Given the description of an element on the screen output the (x, y) to click on. 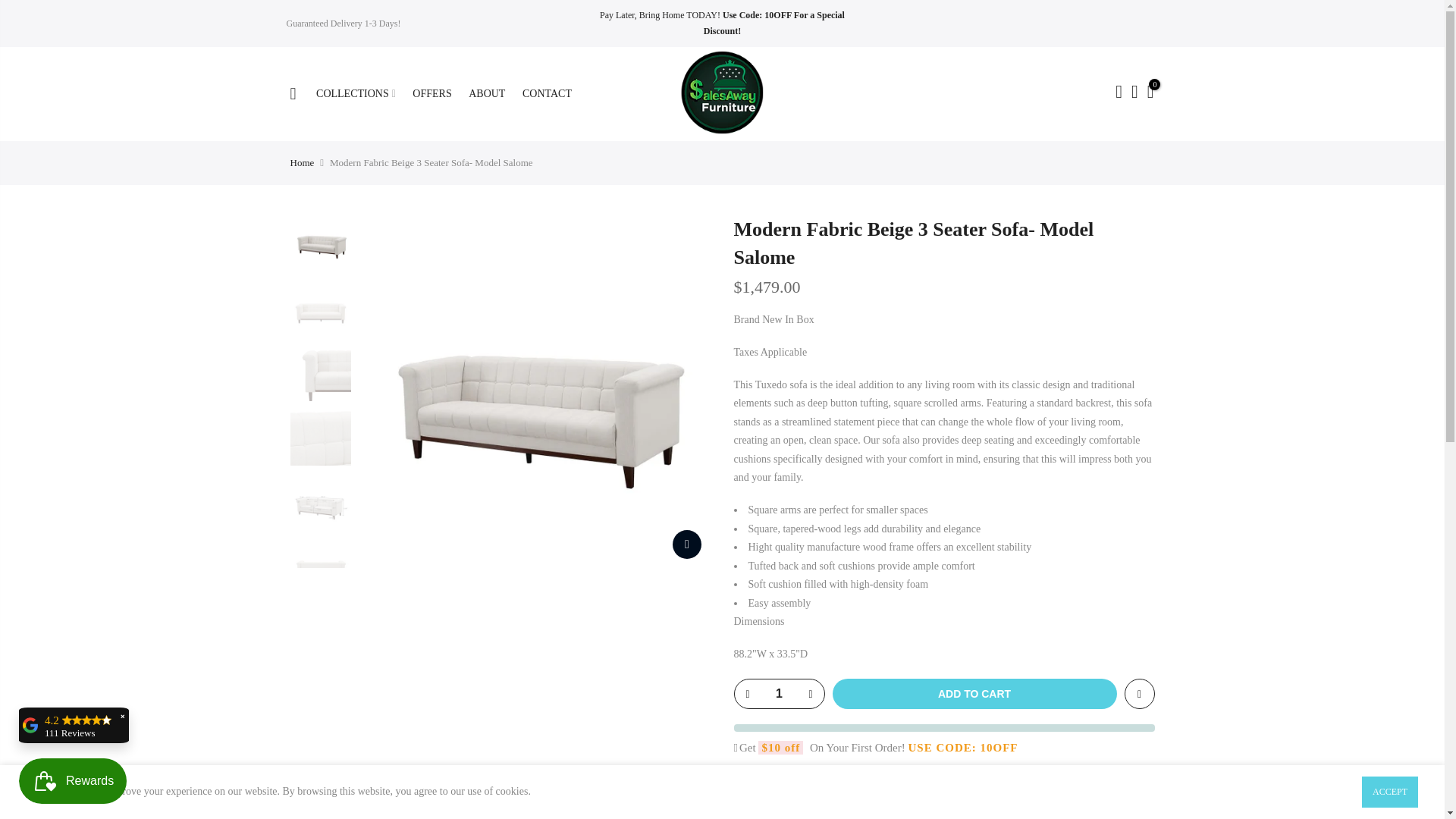
ADD TO CART (974, 693)
COLLECTIONS (361, 92)
OFFERS (436, 92)
CONTACT (551, 92)
ABOUT (491, 92)
Home (301, 162)
Smile.io Rewards Program Launcher (72, 780)
1 (778, 693)
